Given the description of an element on the screen output the (x, y) to click on. 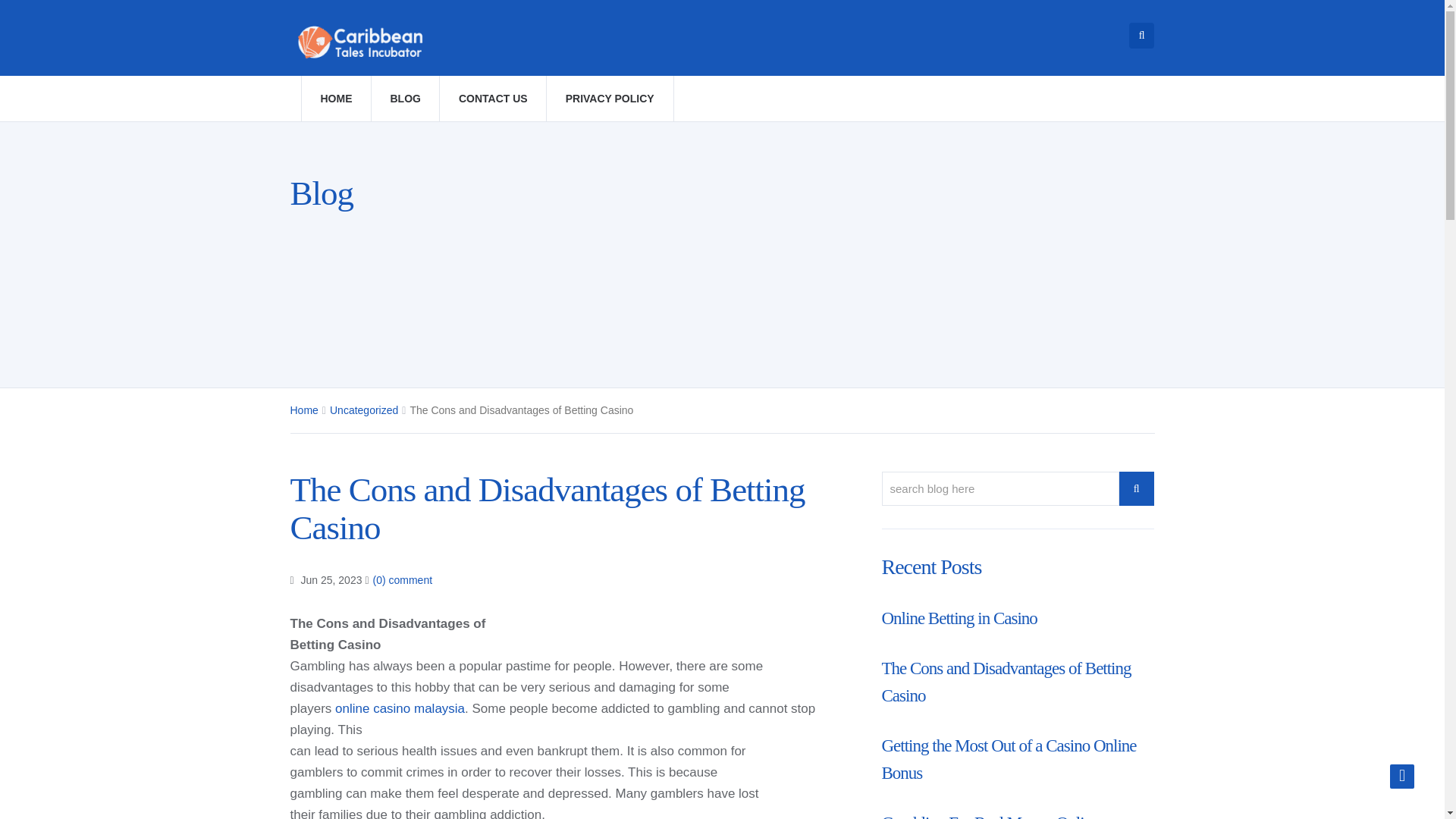
HOME (335, 98)
Getting the Most Out of a Casino Online Bonus (1007, 759)
Online Betting in Casino (958, 618)
Contact Us (493, 98)
Gambling For Real Money Online (989, 816)
Uncategorized (363, 410)
Online Betting in Casino (958, 618)
CONTACT US (493, 98)
Privacy Policy (609, 98)
Home (303, 410)
